Given the description of an element on the screen output the (x, y) to click on. 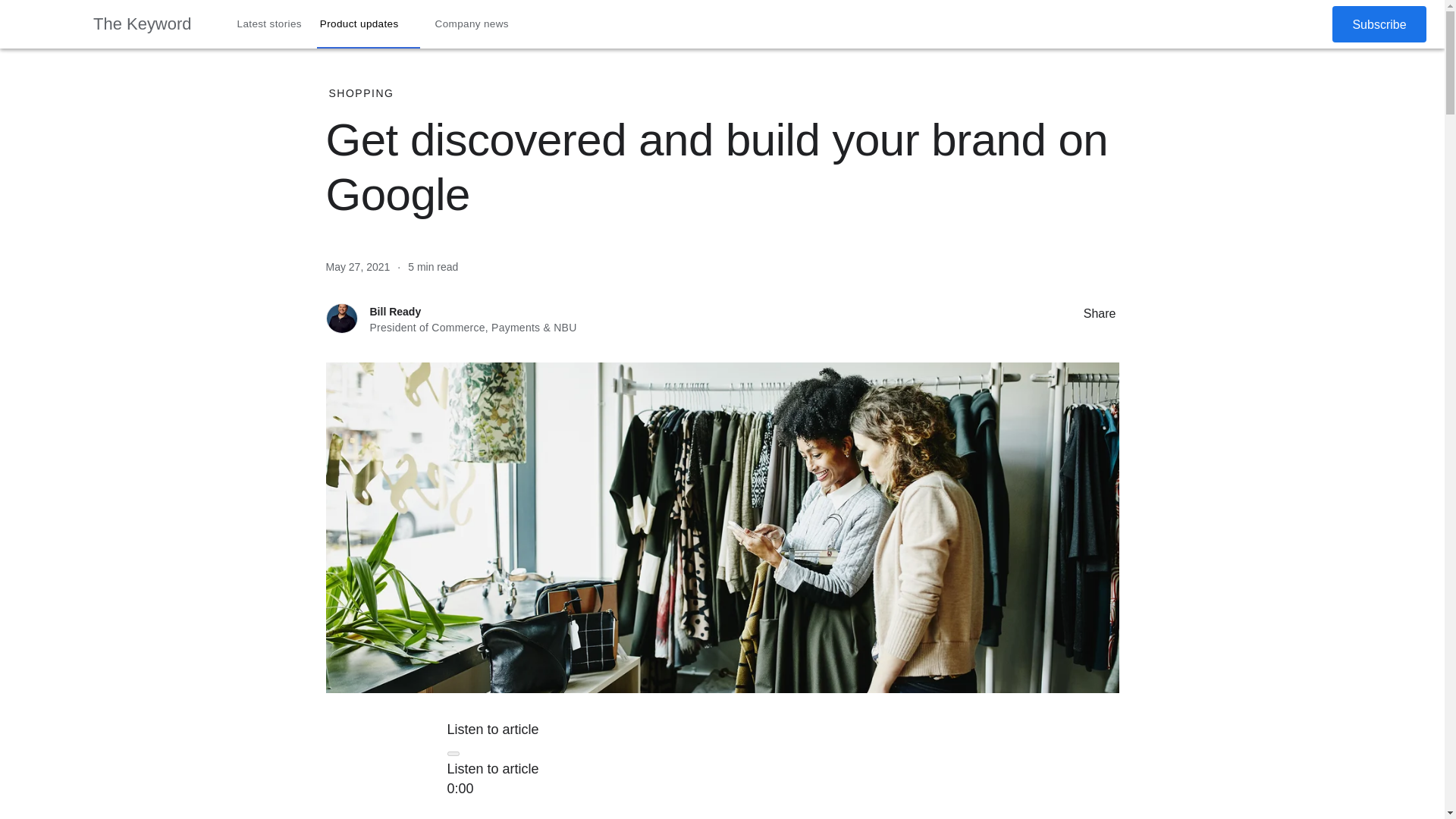
Search (1274, 23)
Share (1068, 313)
Secondary menu (1307, 23)
Product updates (368, 24)
Google (46, 24)
Latest stories (269, 24)
The Keyword (142, 24)
